Given the description of an element on the screen output the (x, y) to click on. 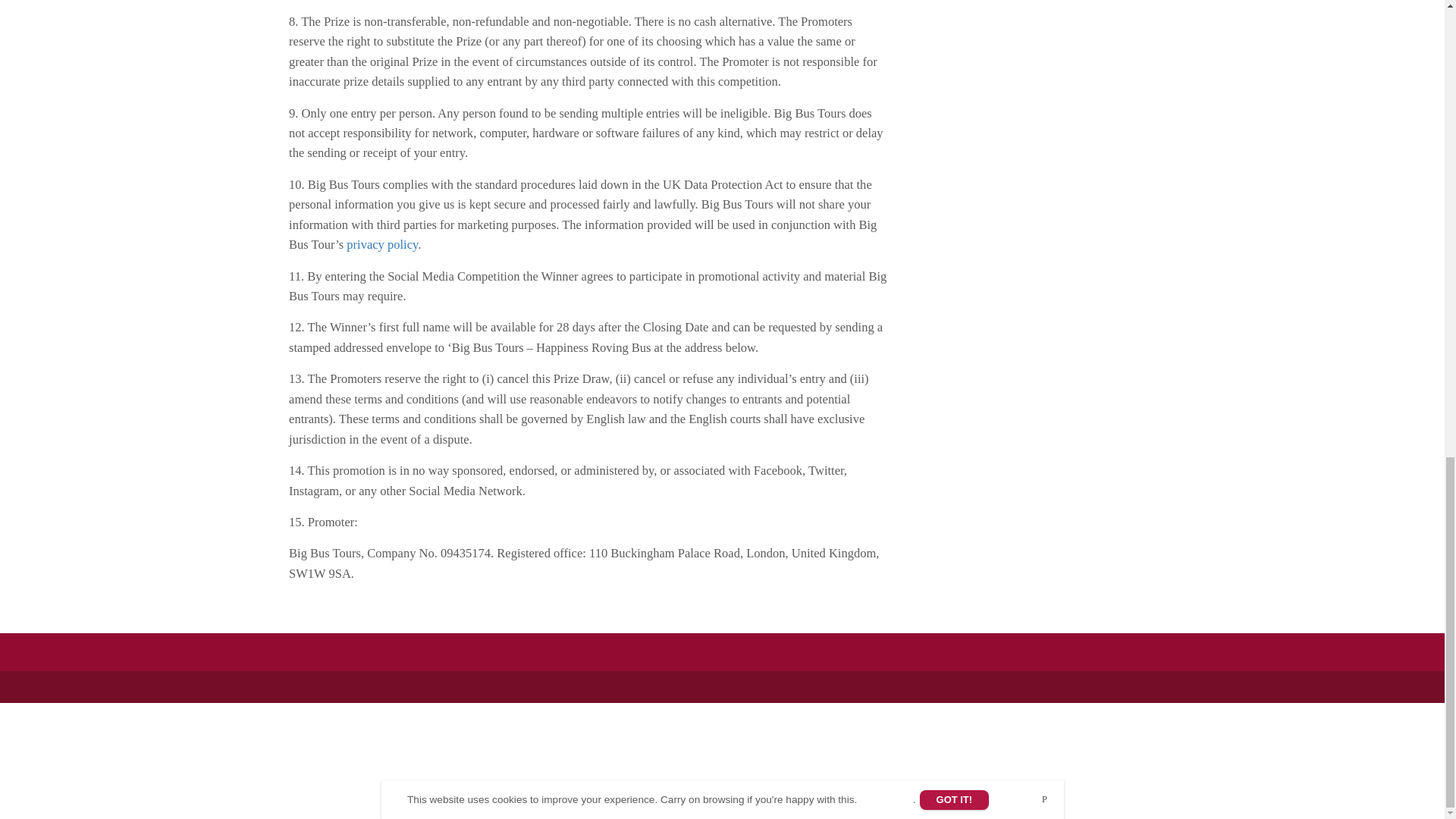
privacy policy (381, 244)
privacy policy (381, 244)
Chat (113, 759)
